Given the description of an element on the screen output the (x, y) to click on. 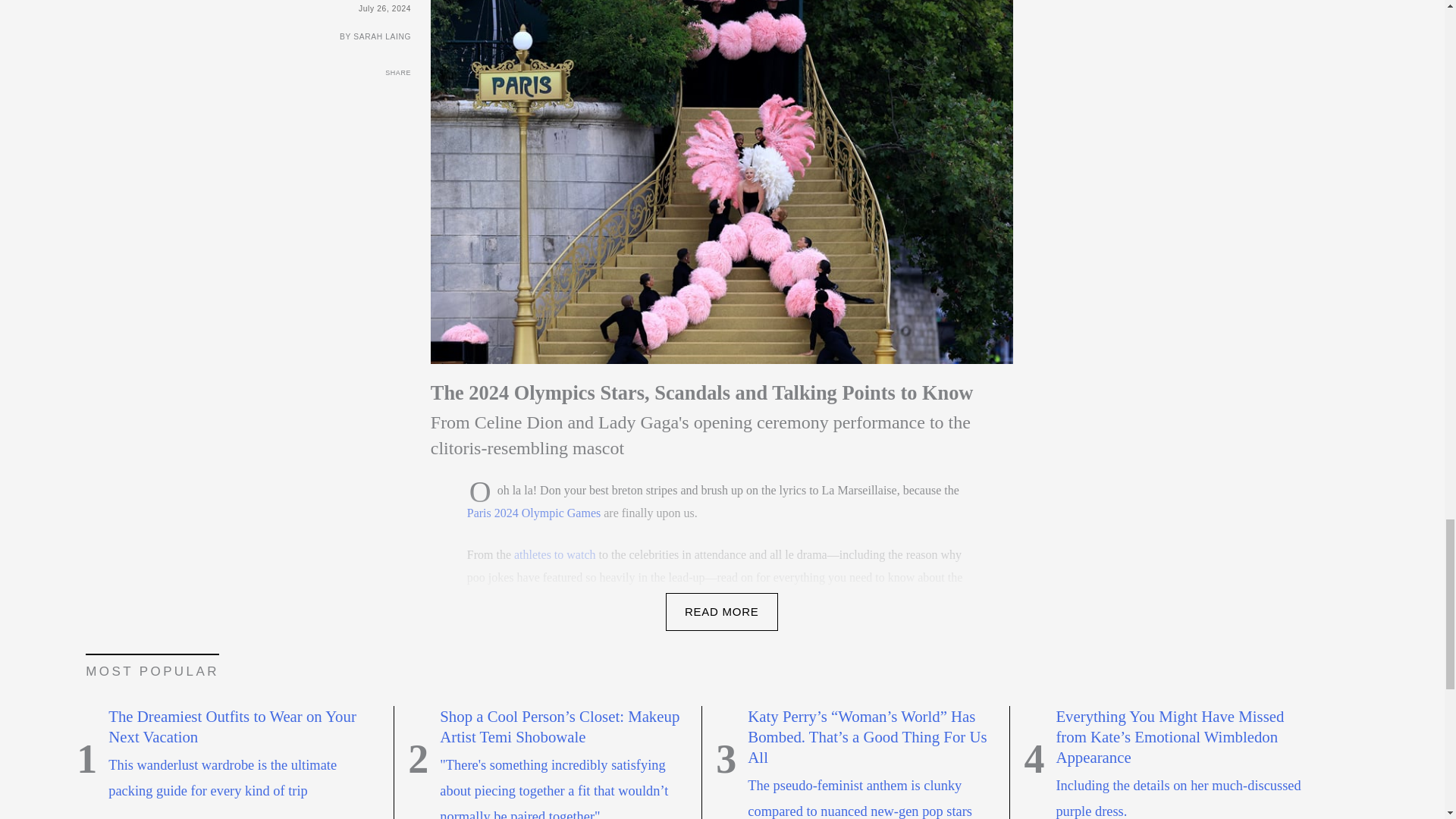
July 26, 2024 (212, 8)
